Given the description of an element on the screen output the (x, y) to click on. 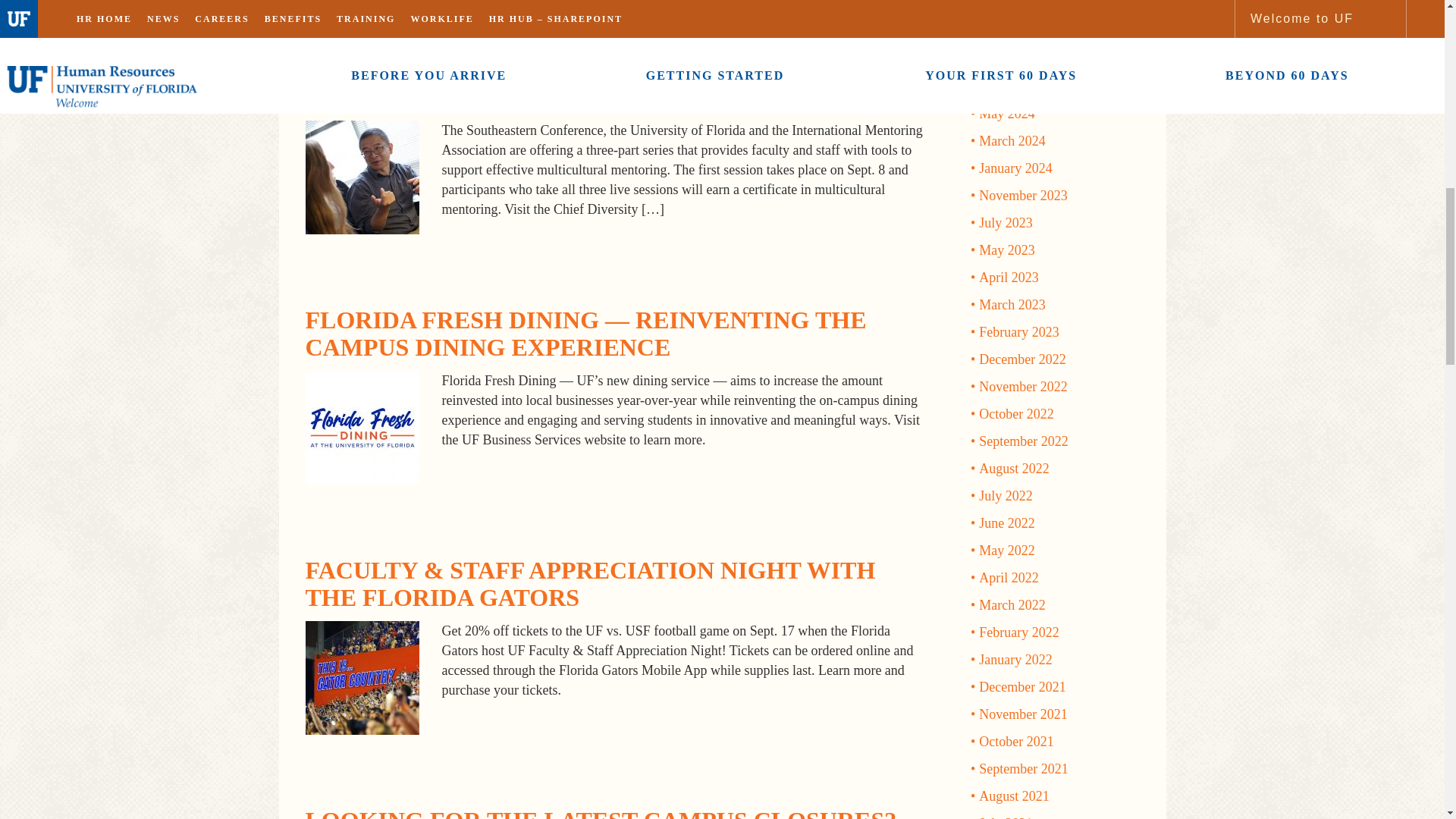
Permanent Link to Looking for the latest campus closures? (600, 812)
